Given the description of an element on the screen output the (x, y) to click on. 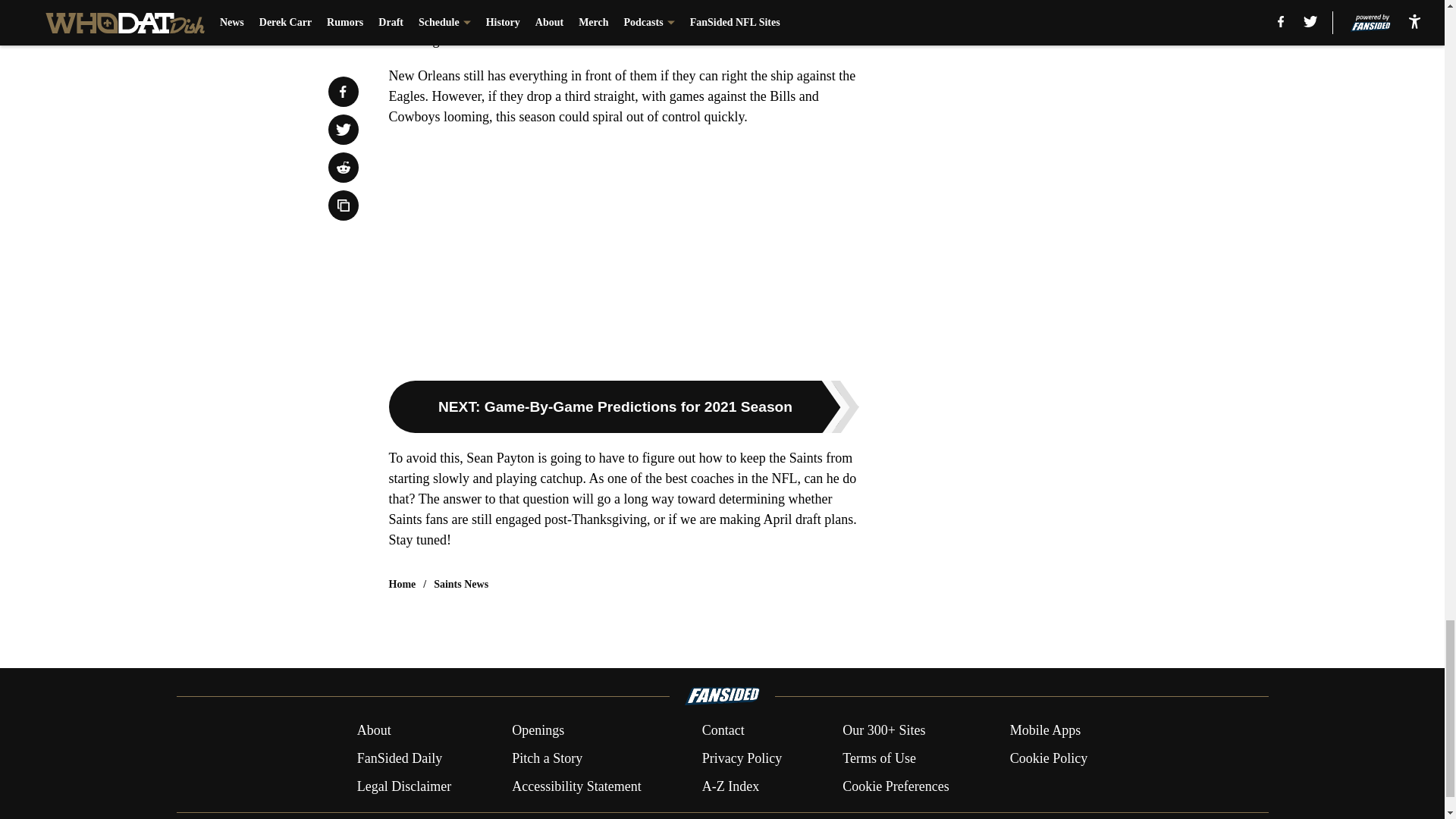
Mobile Apps (1045, 730)
Saints News (460, 584)
Home (401, 584)
FanSided Daily (399, 758)
Openings (538, 730)
About (373, 730)
NEXT: Game-By-Game Predictions for 2021 Season (623, 406)
Contact (722, 730)
